Given the description of an element on the screen output the (x, y) to click on. 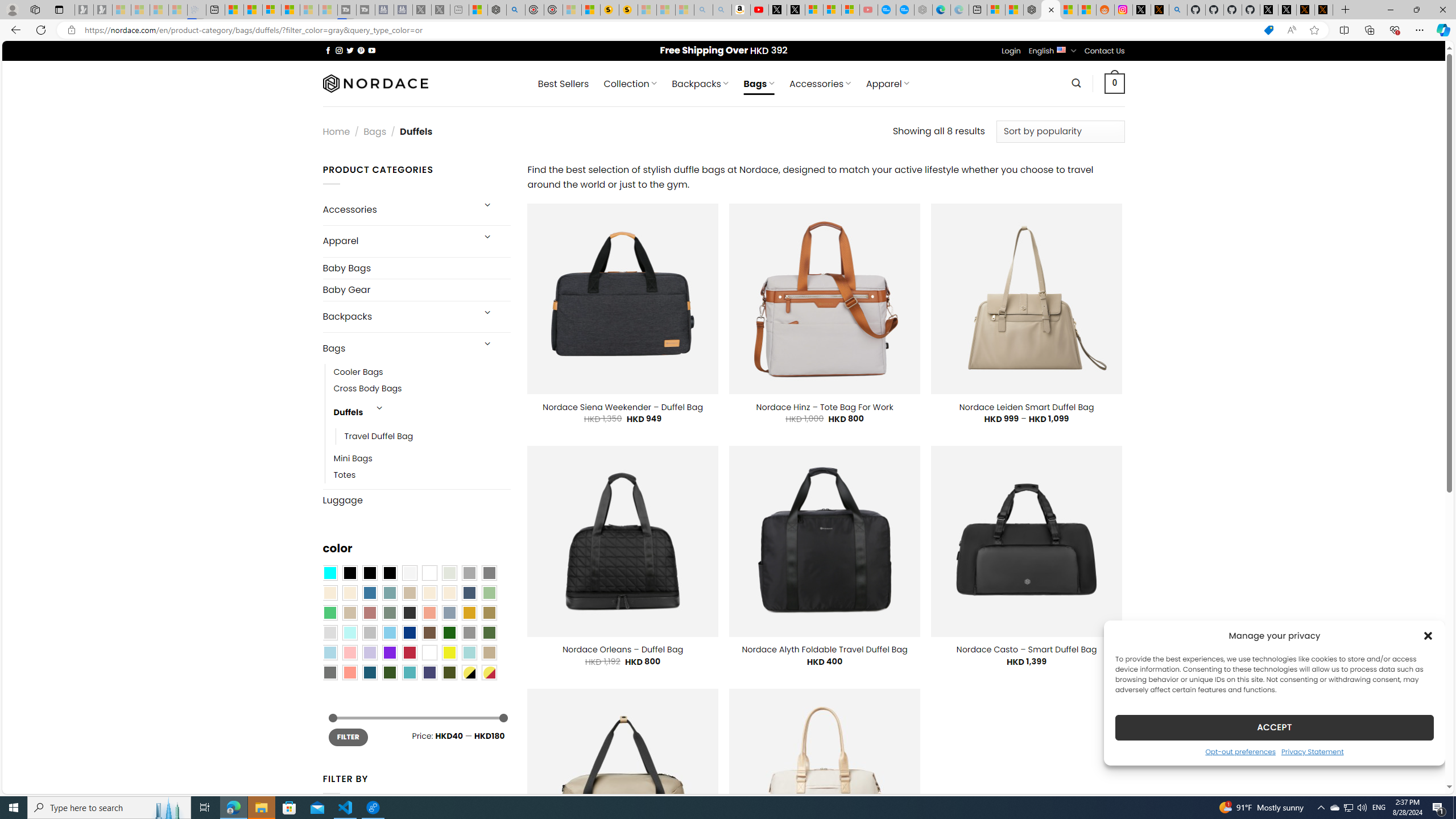
Blue Sage (389, 592)
Clear (429, 572)
Gray (468, 632)
Ash Gray (449, 572)
Home (335, 131)
Profile / X (1268, 9)
Black-Brown (389, 572)
Caramel (429, 592)
